Given the description of an element on the screen output the (x, y) to click on. 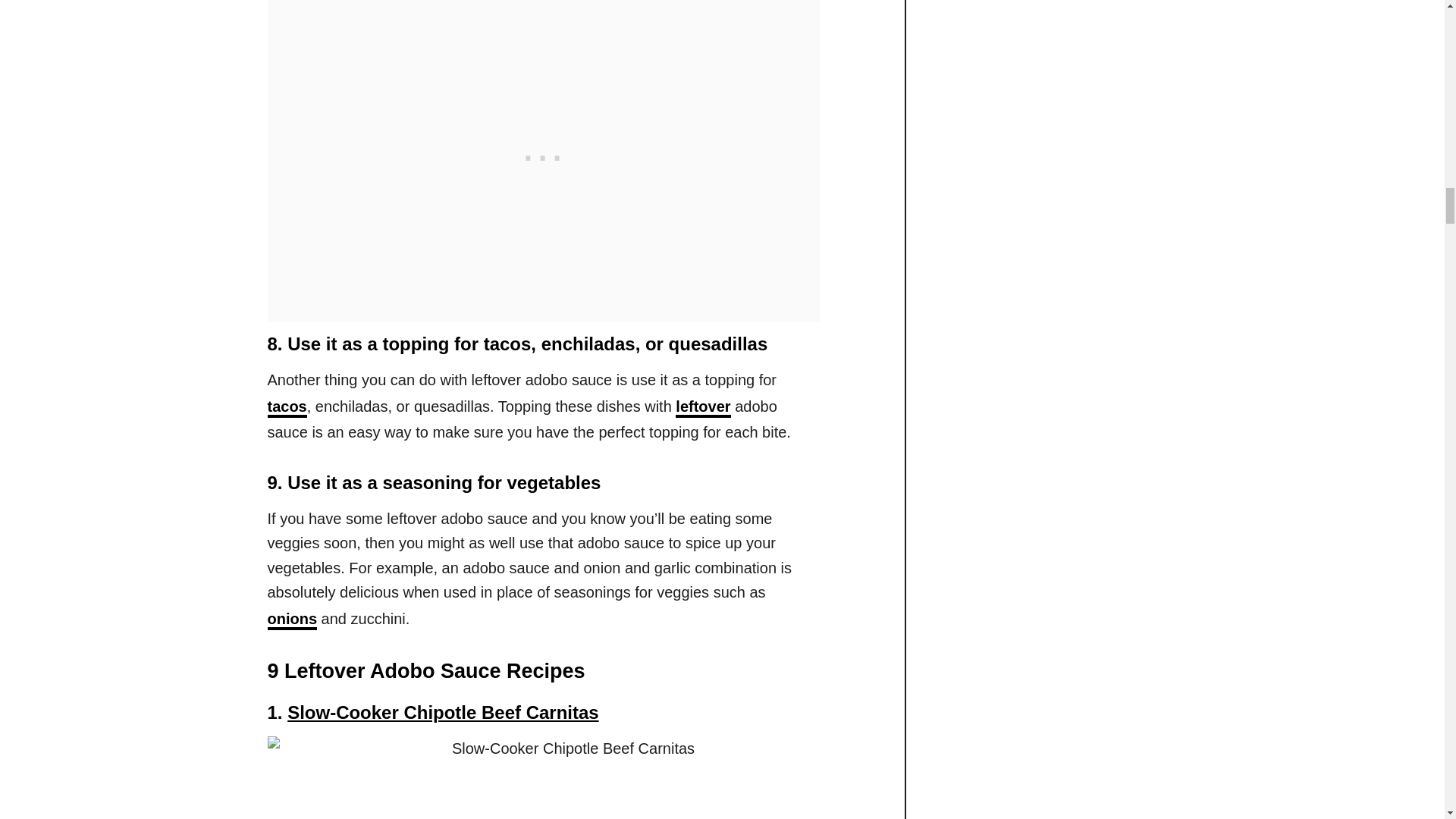
onions (291, 619)
tacos (285, 407)
onions (291, 619)
tacos (285, 407)
leftover (702, 407)
Slow-Cooker Chipotle Beef Carnitas (442, 711)
